Given the description of an element on the screen output the (x, y) to click on. 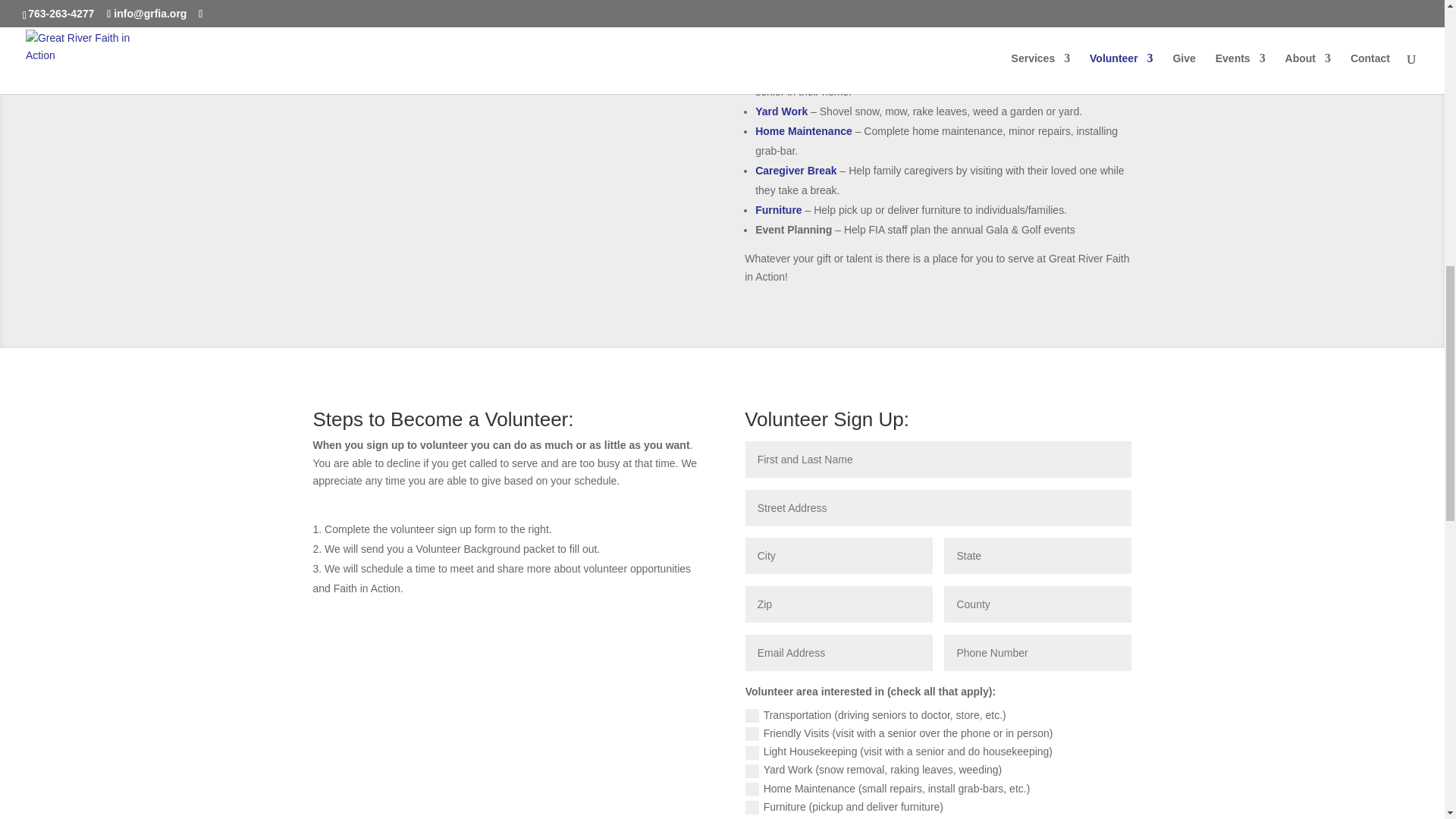
Companionship (795, 71)
Furniture (778, 209)
Transportation (792, 51)
Caregiver Break (795, 170)
Home Maintenance (803, 131)
Yard Work (781, 111)
